Given the description of an element on the screen output the (x, y) to click on. 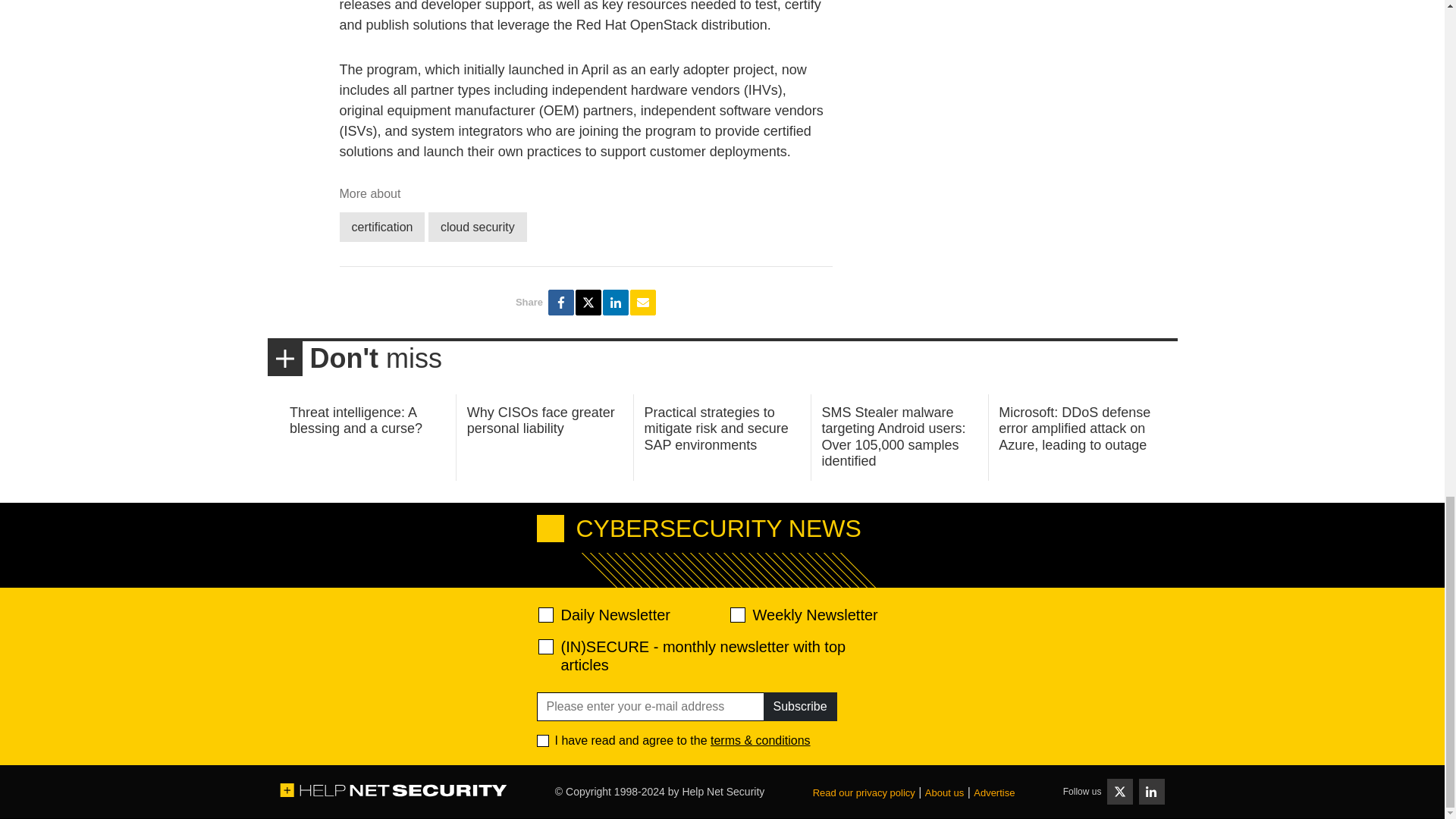
28abe5d9ef (545, 646)
d2d471aafa (736, 614)
cloud security (477, 210)
certification (382, 210)
520ac2f639 (545, 614)
